Given the description of an element on the screen output the (x, y) to click on. 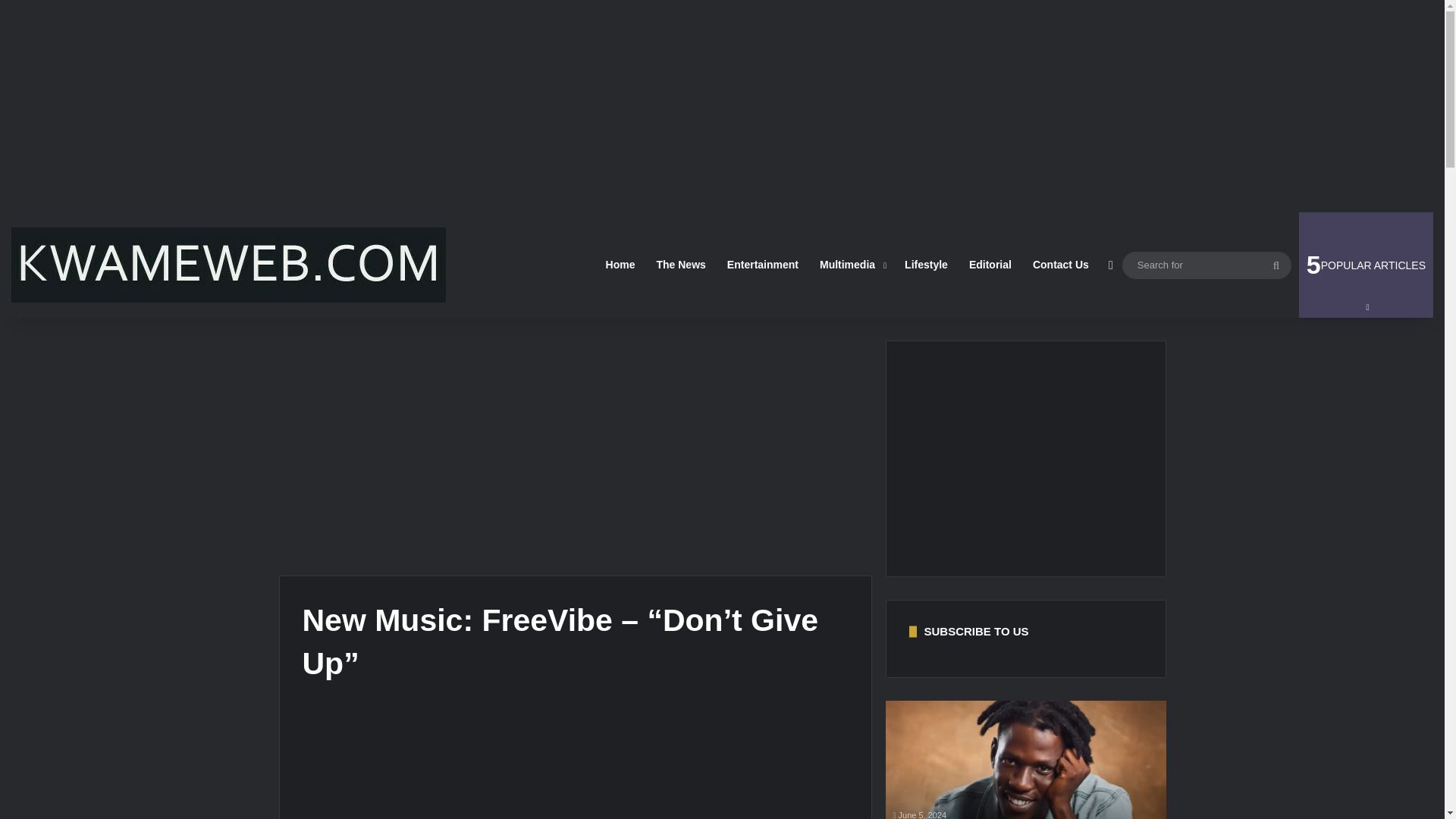
KwameWeb (228, 264)
Search for (1206, 264)
Search for (1275, 265)
Advertisement (574, 765)
Advertisement (1365, 264)
